Given the description of an element on the screen output the (x, y) to click on. 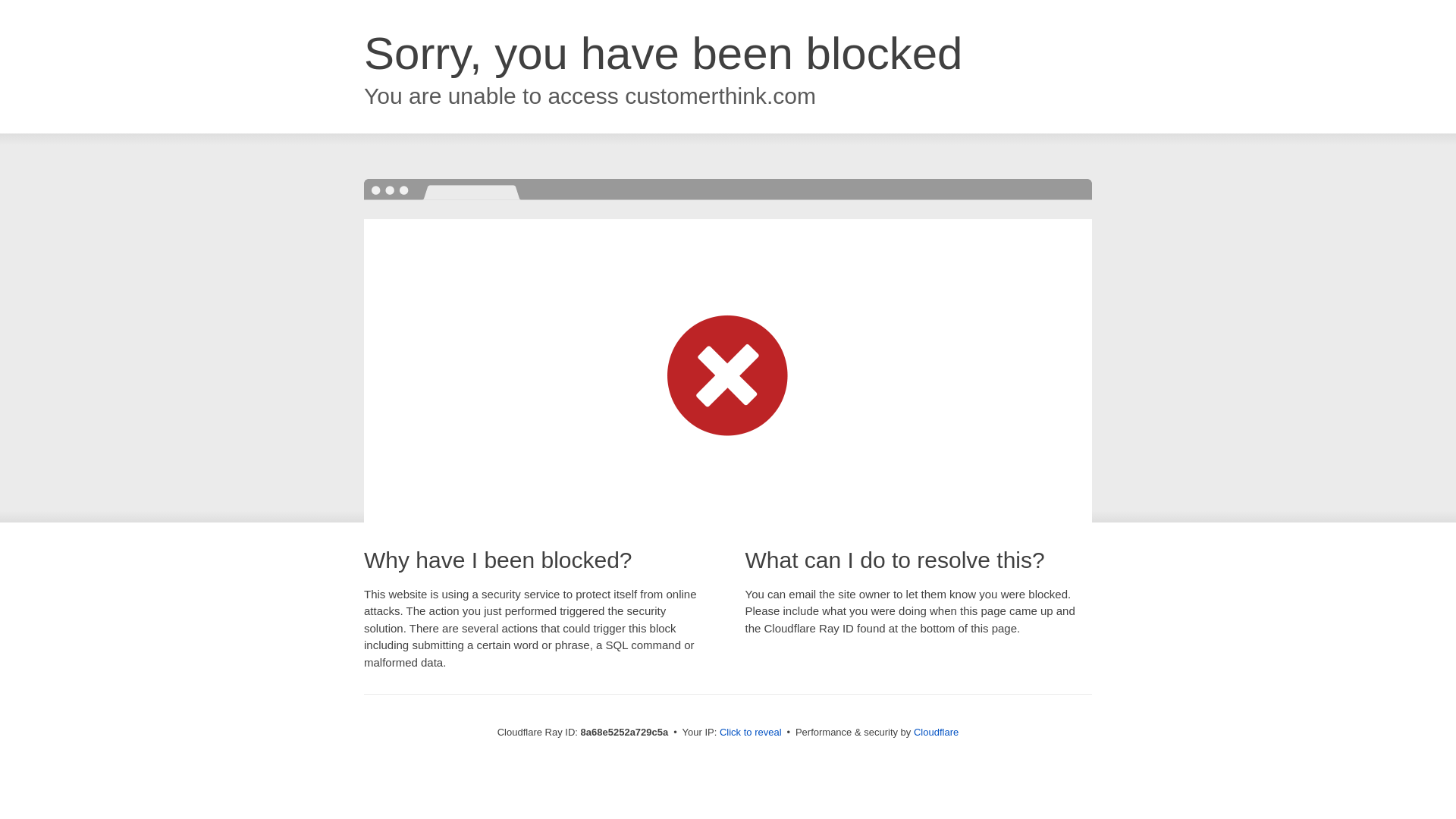
Click to reveal (750, 732)
Cloudflare (936, 731)
